Given the description of an element on the screen output the (x, y) to click on. 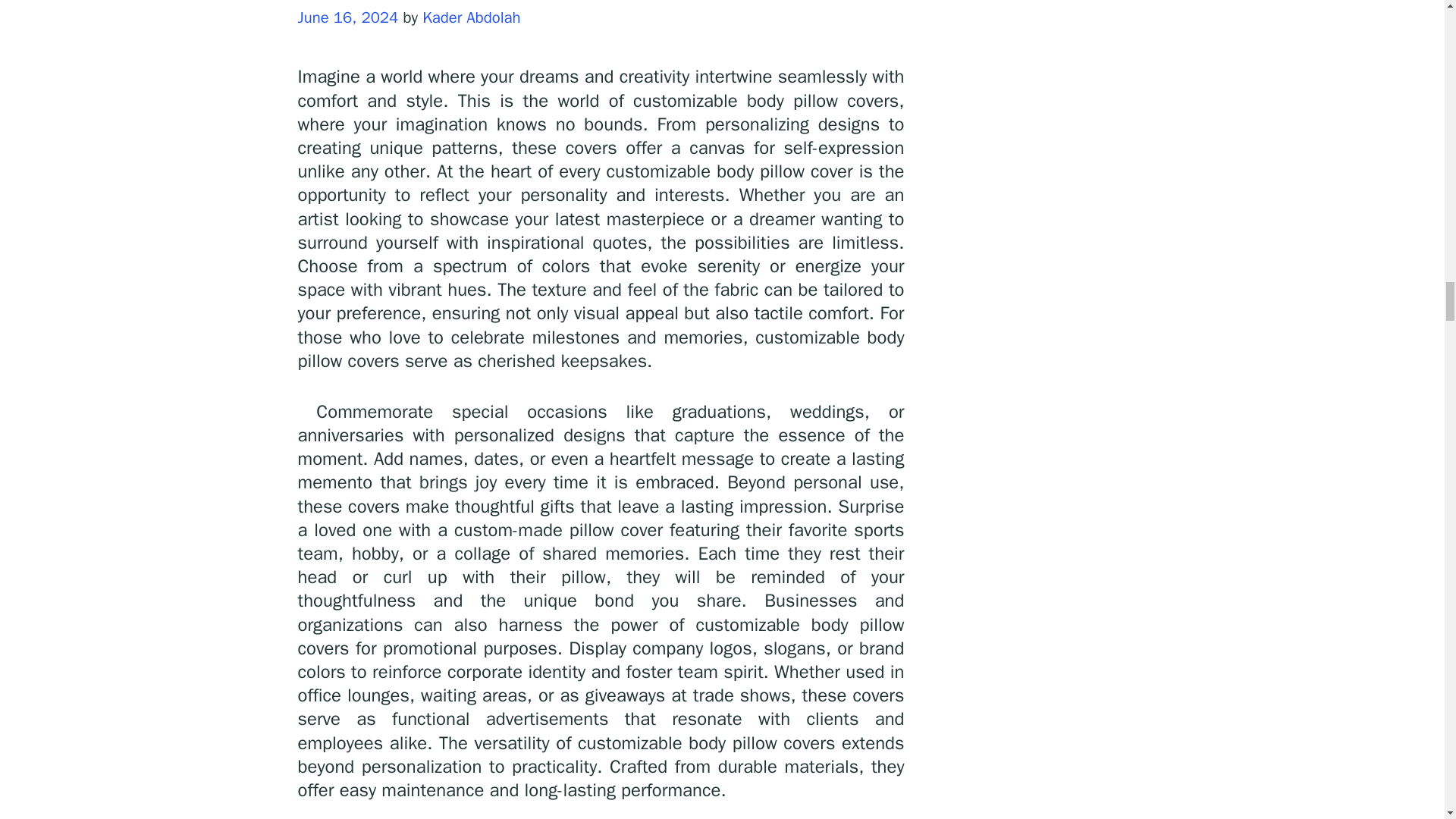
June 16, 2024 (347, 17)
11:27 am (347, 17)
Kader Abdolah (470, 17)
View all posts by Kader Abdolah (470, 17)
